Given the description of an element on the screen output the (x, y) to click on. 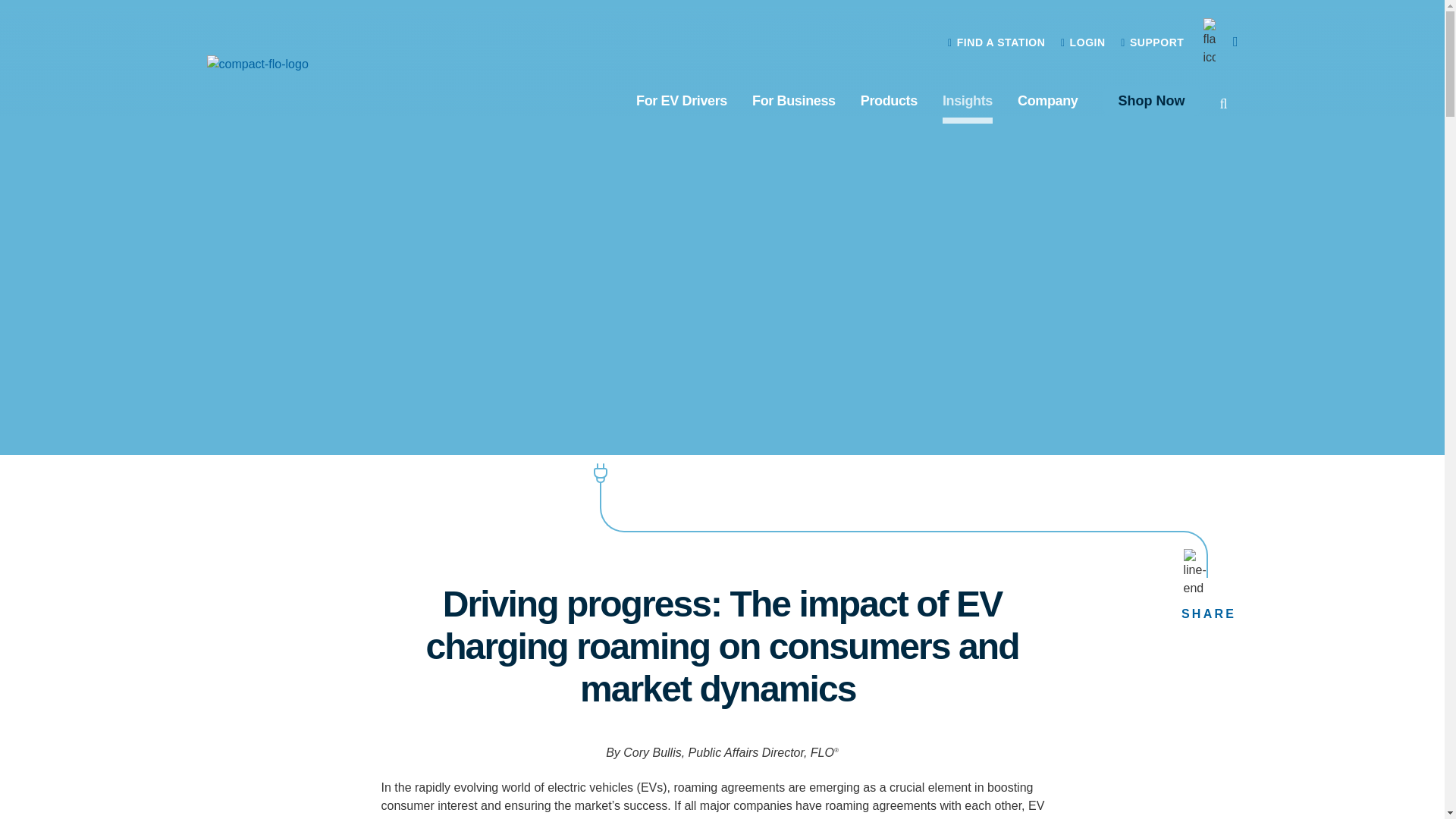
Products (888, 100)
For Business (793, 100)
For EV Drivers (681, 100)
